Given the description of an element on the screen output the (x, y) to click on. 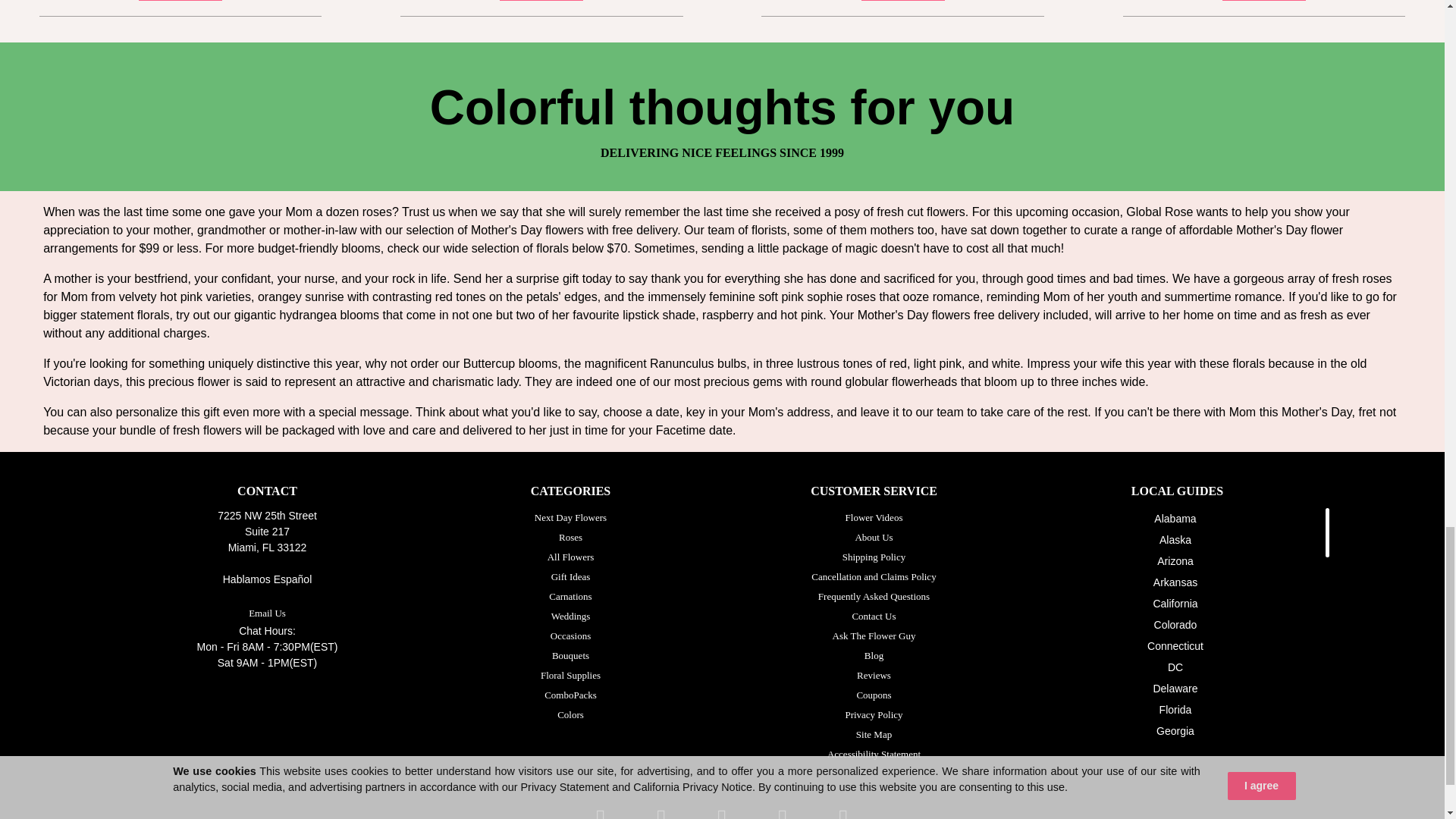
Colorado (1175, 624)
Arkansas (1174, 582)
Alaska (1174, 539)
DC (1174, 666)
Alabama (1174, 518)
Delaware (1174, 688)
Connecticut (1175, 645)
California (1174, 603)
Florida (1175, 709)
Arizona (1174, 561)
